Given the description of an element on the screen output the (x, y) to click on. 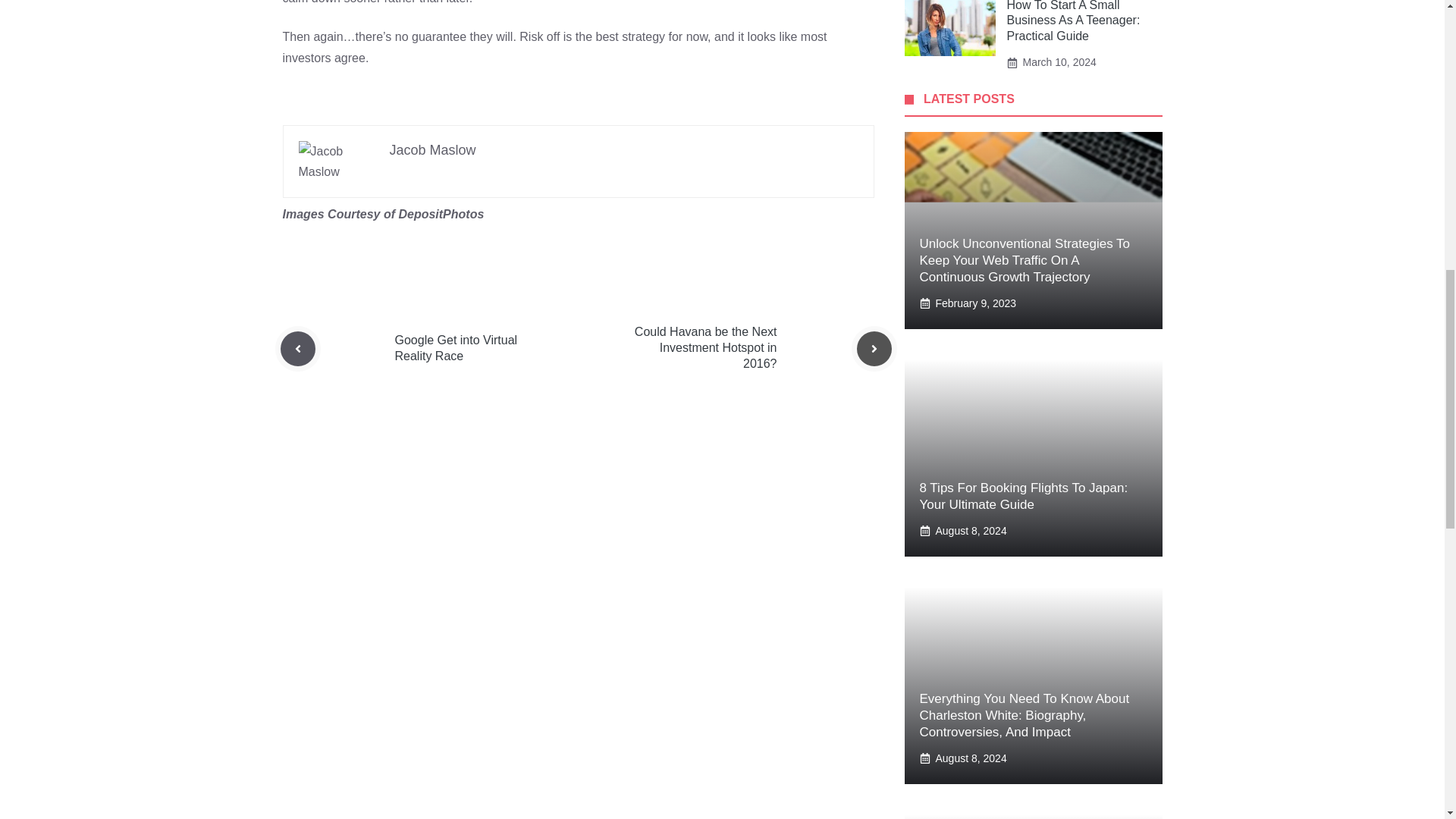
How To Start A Small Business As A Teenager: Practical Guide (1073, 21)
8 Tips For Booking Flights To Japan: Your Ultimate Guide (1022, 495)
Jacob Maslow (433, 150)
Could Havana be the Next Investment Hotspot in 2016? (705, 347)
Scroll back to top (1406, 720)
DepositPhotos (440, 214)
Google Get into Virtual Reality Race (455, 347)
